Given the description of an element on the screen output the (x, y) to click on. 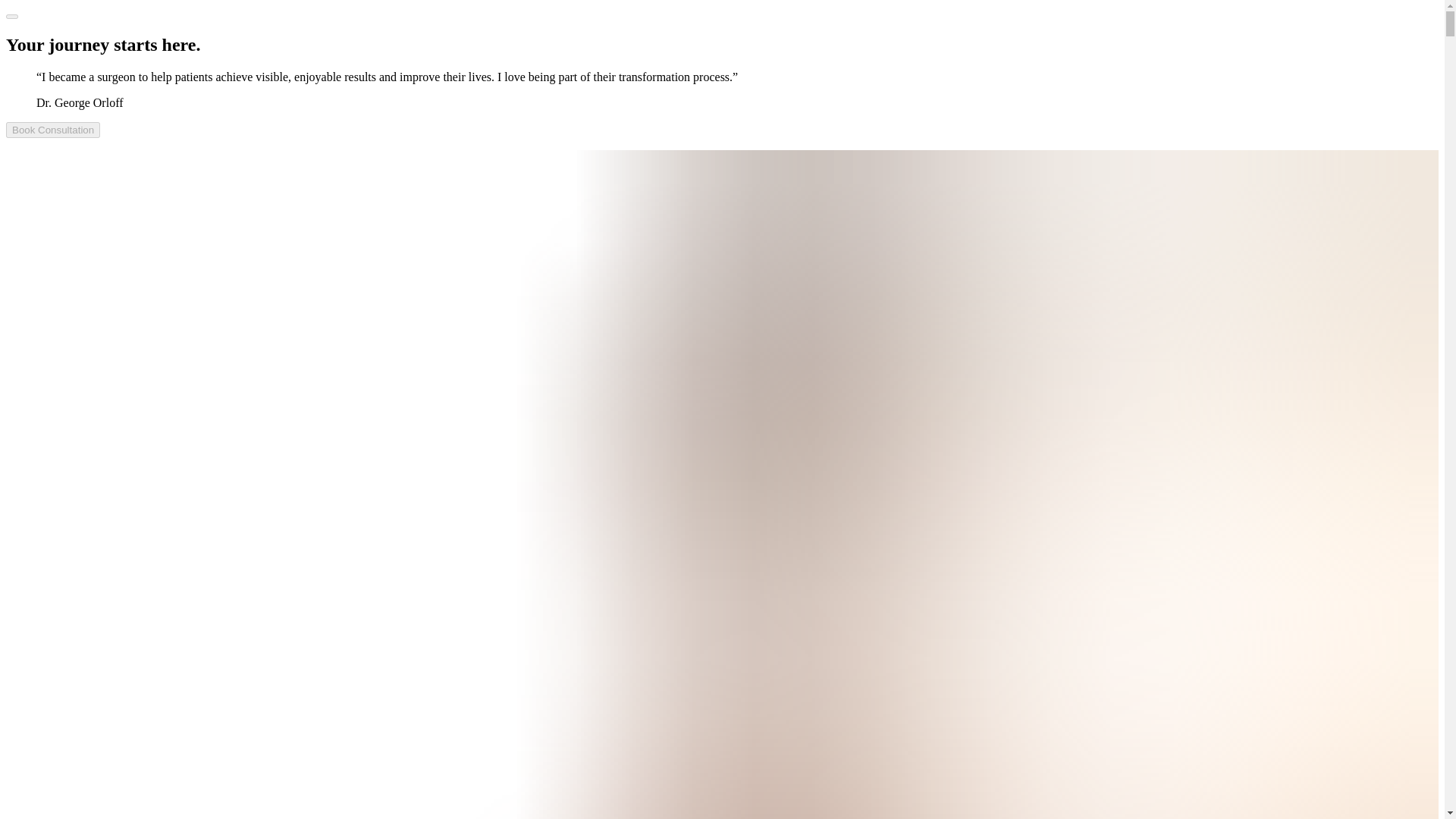
Book Consultation (52, 130)
